Given the description of an element on the screen output the (x, y) to click on. 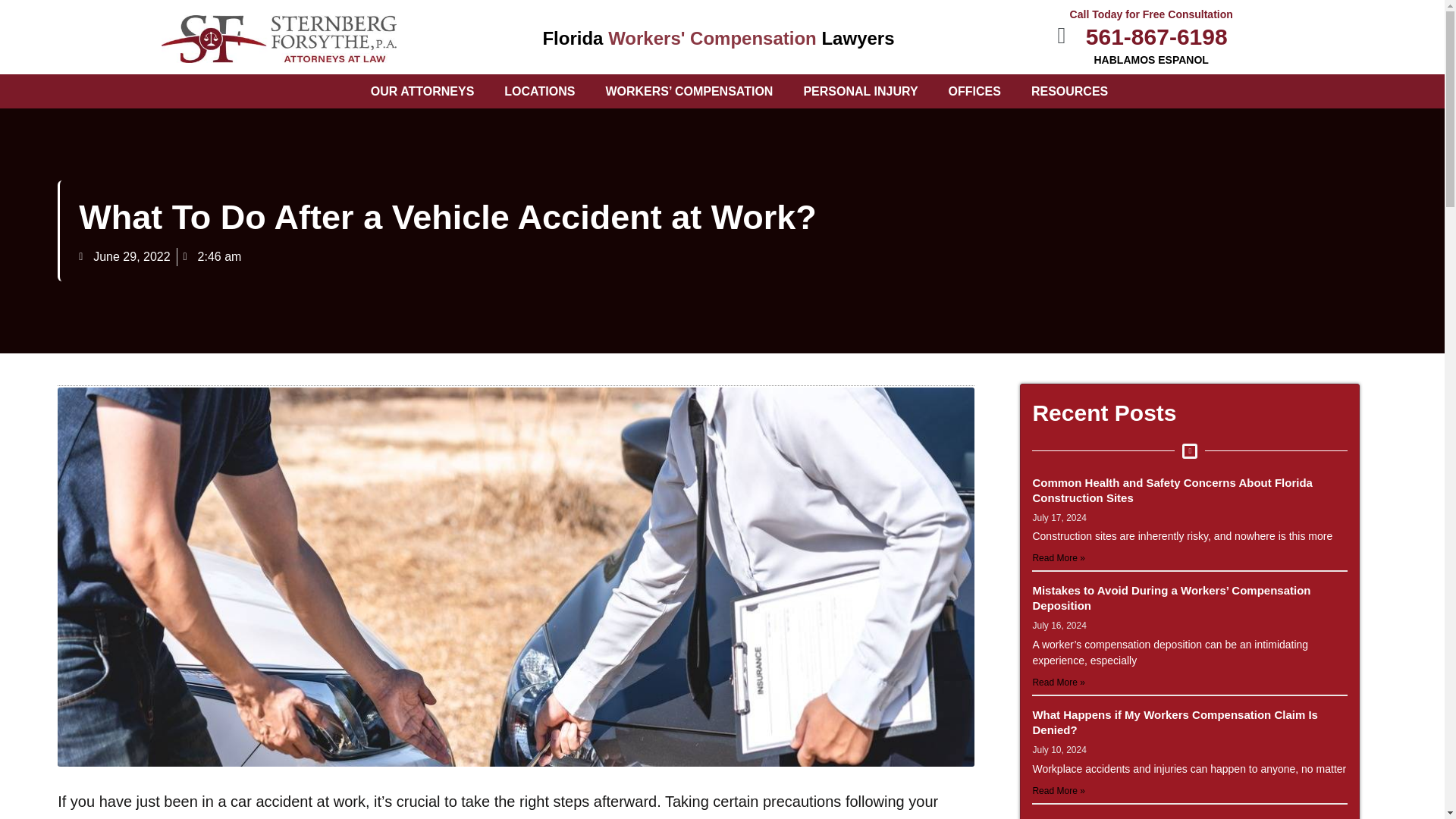
PERSONAL INJURY (860, 91)
HABLAMOS ESPANOL (1150, 60)
561-867-6198 (1136, 36)
OFFICES (974, 91)
LOCATIONS (539, 91)
OUR ATTORNEYS (422, 91)
